Given the description of an element on the screen output the (x, y) to click on. 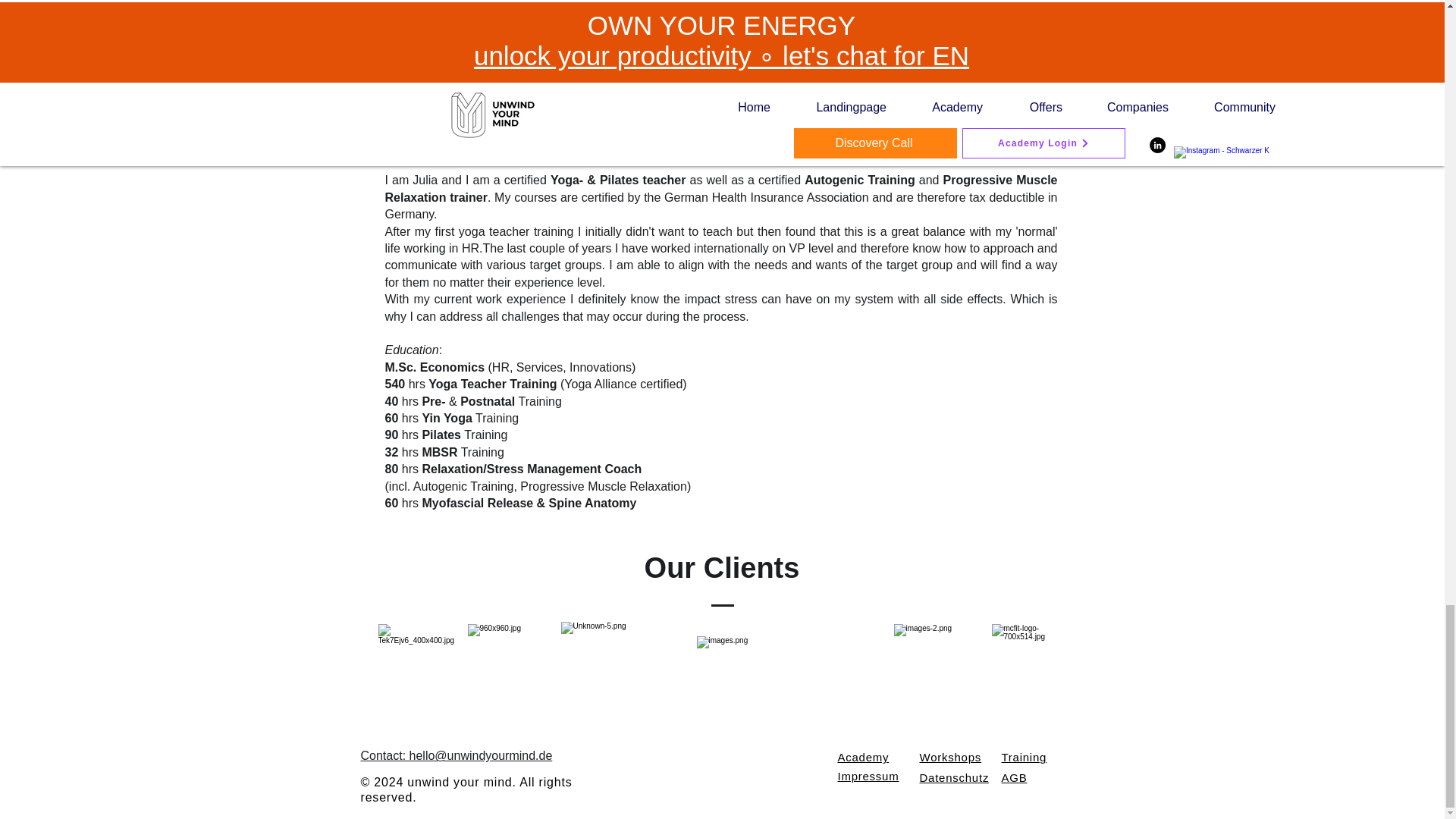
Academy (862, 757)
Impressum (867, 775)
